Given the description of an element on the screen output the (x, y) to click on. 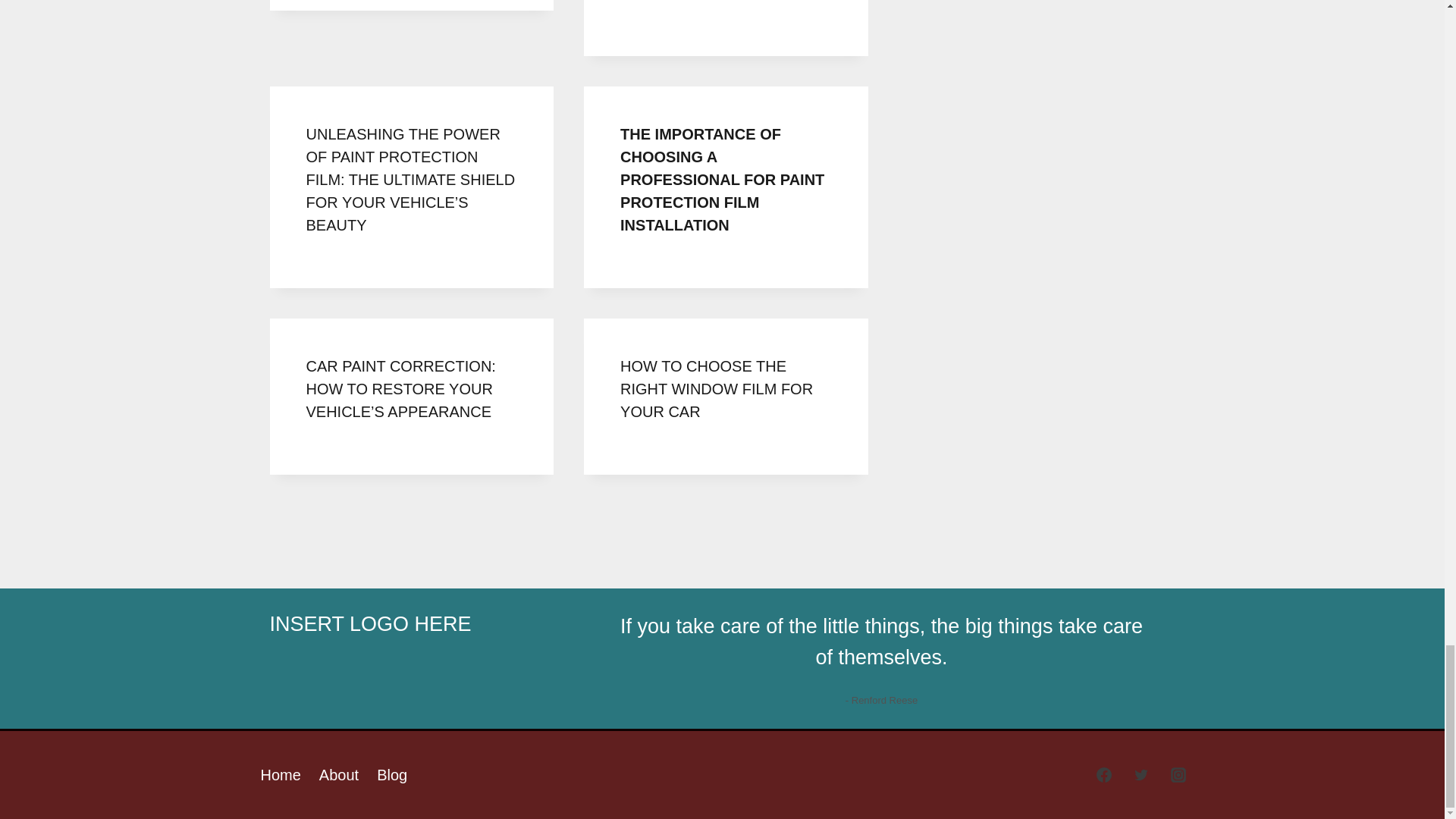
About (339, 774)
Home (280, 774)
HOW TO CHOOSE THE RIGHT WINDOW FILM FOR YOUR CAR (716, 388)
Blog (392, 774)
